Given the description of an element on the screen output the (x, y) to click on. 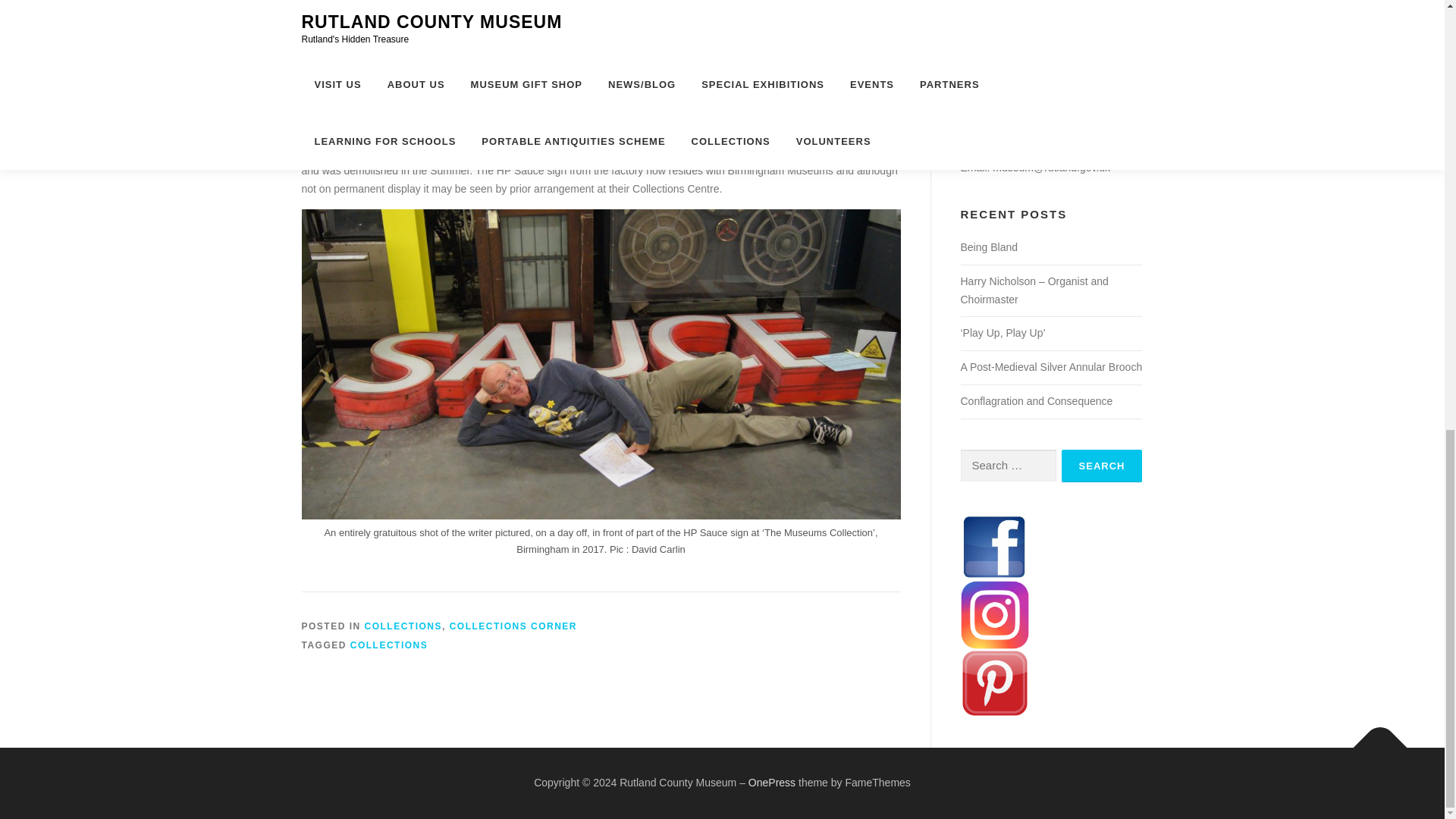
A Post-Medieval Silver Annular Brooch (1050, 367)
COLLECTIONS (403, 625)
COLLECTIONS (389, 644)
Search (1101, 465)
Back To Top (1372, 739)
COLLECTIONS CORNER (512, 625)
Search (1101, 465)
Being Bland (988, 246)
